Given the description of an element on the screen output the (x, y) to click on. 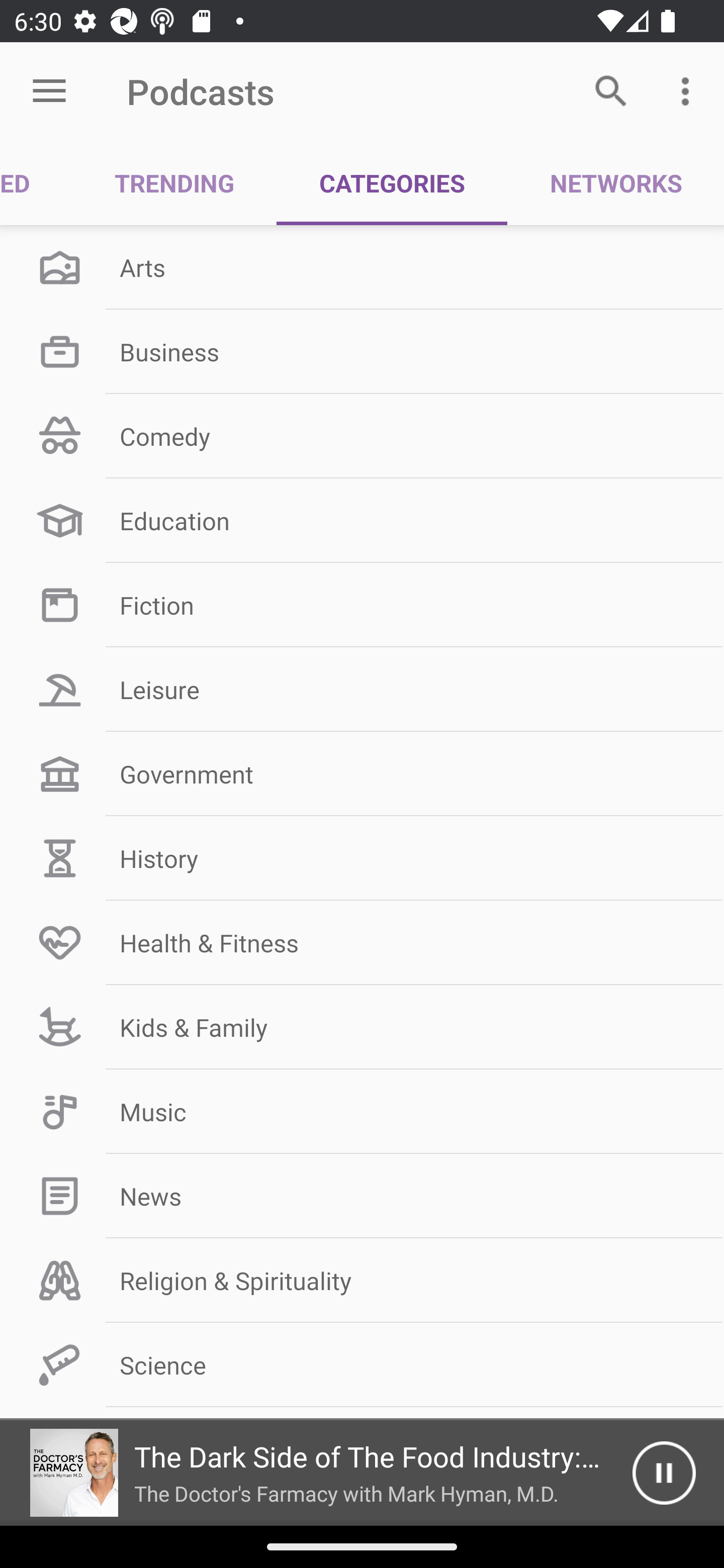
Open menu (49, 91)
Search (611, 90)
More options (688, 90)
TRENDING (174, 183)
CATEGORIES (391, 183)
NETWORKS (615, 183)
Arts (362, 266)
Business (362, 350)
Comedy (362, 435)
Education (362, 520)
Fiction (362, 604)
Leisure (362, 689)
Government (362, 774)
History (362, 858)
Health & Fitness (362, 942)
Kids & Family (362, 1026)
Music (362, 1111)
News (362, 1196)
Religion & Spirituality (362, 1280)
Science (362, 1364)
Pause (663, 1472)
